Given the description of an element on the screen output the (x, y) to click on. 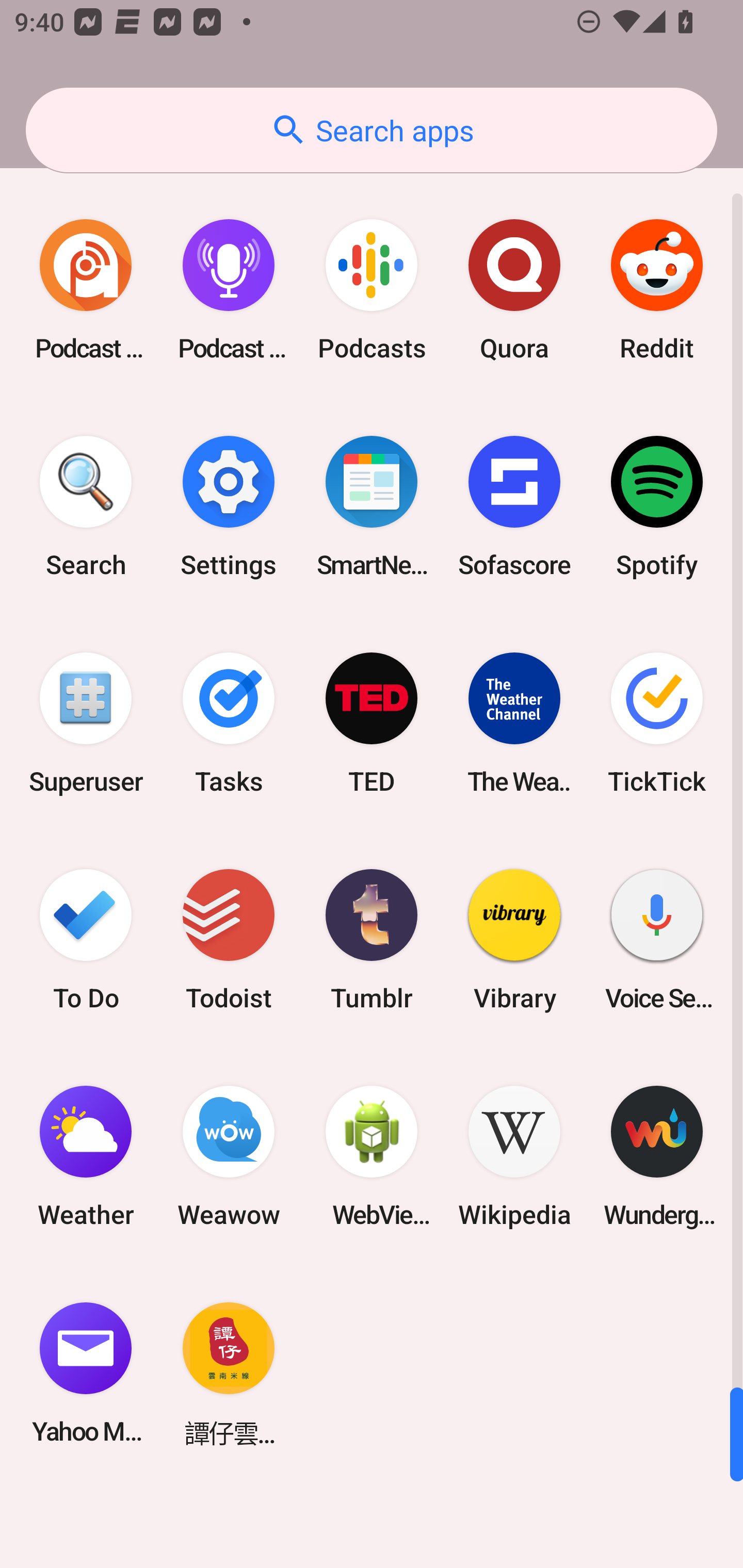
  Search apps (371, 130)
Podcast Addict (85, 289)
Podcast Player (228, 289)
Podcasts (371, 289)
Quora (514, 289)
Reddit (656, 289)
Search (85, 506)
Settings (228, 506)
SmartNews (371, 506)
Sofascore (514, 506)
Spotify (656, 506)
Superuser (85, 722)
Tasks (228, 722)
TED (371, 722)
The Weather Channel (514, 722)
TickTick (656, 722)
To Do (85, 939)
Todoist (228, 939)
Tumblr (371, 939)
Vibrary (514, 939)
Voice Search (656, 939)
Weather (85, 1156)
Weawow (228, 1156)
WebView Browser Tester (371, 1156)
Wikipedia (514, 1156)
Wunderground (656, 1156)
Yahoo Mail (85, 1373)
譚仔雲南米線 (228, 1373)
